Given the description of an element on the screen output the (x, y) to click on. 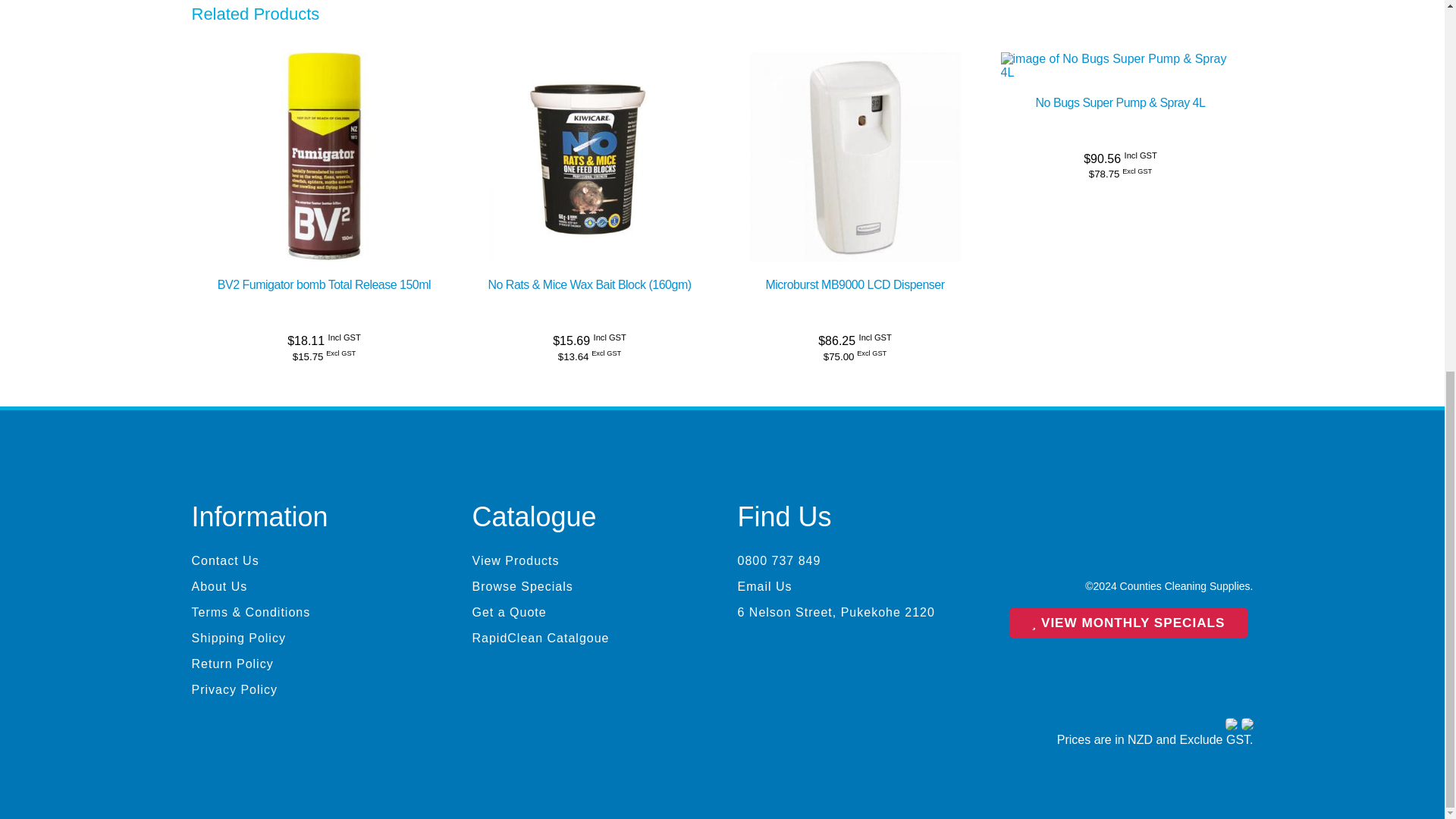
Shipping Policy (308, 638)
View this product... (588, 284)
About Us (308, 586)
View this product... (854, 284)
View this product... (855, 58)
Contact Us (308, 560)
Microburst MB9000 LCD Dispenser (854, 284)
View this product... (590, 58)
View this product... (323, 284)
View this product... (1120, 102)
